Given the description of an element on the screen output the (x, y) to click on. 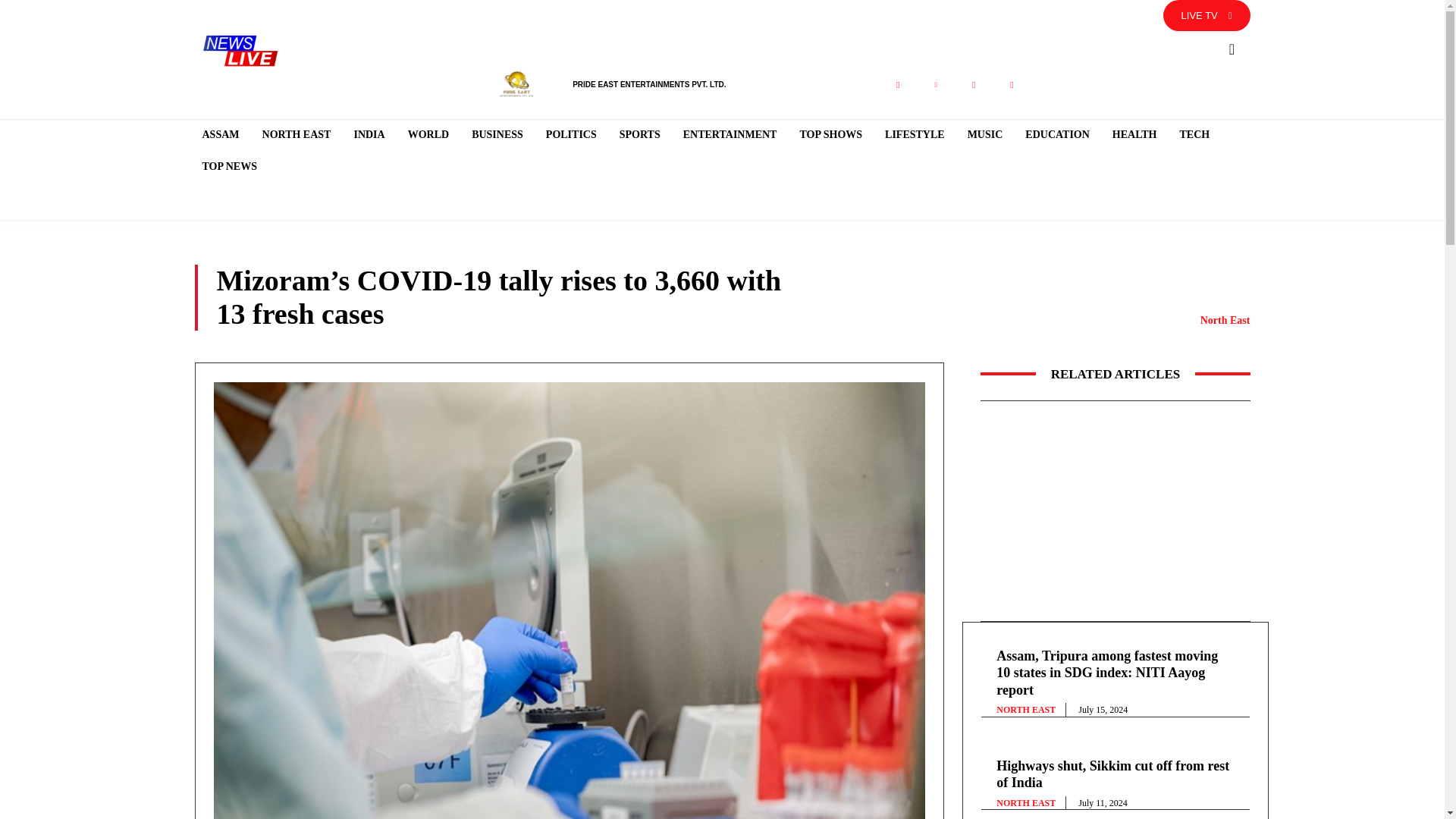
PRIDE EAST ENTERTAINMENTS PVT. LTD. (648, 84)
ENTERTAINMENT (729, 134)
Youtube (1010, 84)
WORLD (428, 134)
Twitter (935, 84)
peepl-small (516, 85)
LIFESTYLE (914, 134)
Instagram (973, 84)
ASSAM (219, 134)
LIVE TV (1206, 15)
BUSINESS (497, 134)
news-live-logo (240, 50)
MUSIC (984, 134)
TOP SHOWS (830, 134)
EDUCATION (1057, 134)
